Given the description of an element on the screen output the (x, y) to click on. 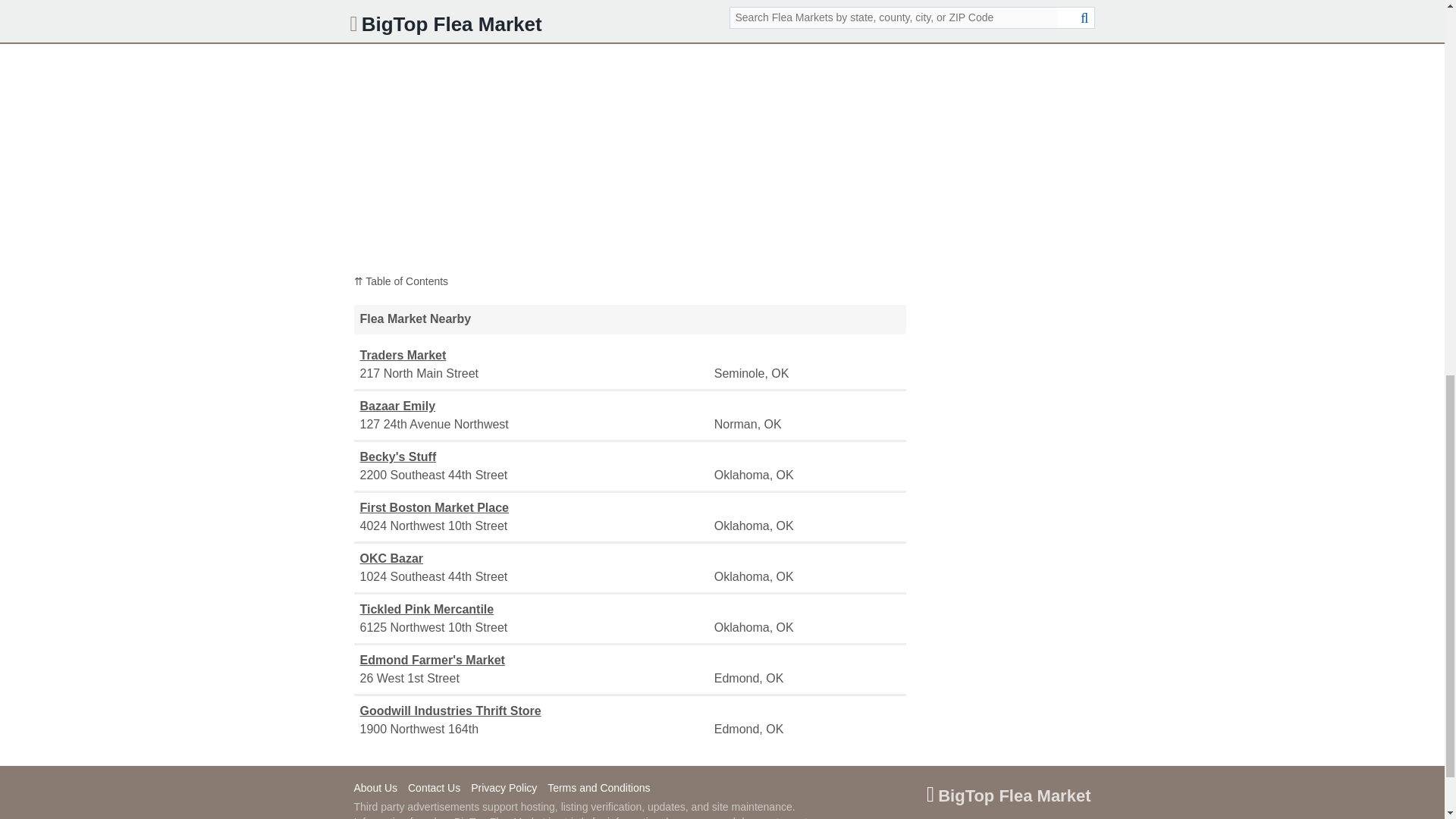
About Us (378, 788)
Becky's Stuff (534, 456)
OKC Bazar in Oklahoma, Oklahoma (534, 558)
get driving directions from your location (689, 26)
Bazaar Emily (534, 406)
Bazaar Emily in Norman, Oklahoma (534, 406)
Becky's Stuff in Oklahoma, Oklahoma (534, 456)
Terms and Conditions (602, 788)
Edmond Farmer's Market in Edmond, Oklahoma (534, 660)
Tickled Pink Mercantile (534, 609)
BigTop Flea Market (1008, 797)
Tickled Pink Mercantile in Oklahoma, Oklahoma (534, 609)
Traders Market (534, 355)
Goodwill Industries Thrift Store (534, 710)
Goodwill Industries Thrift Store in Edmond, Oklahoma (534, 710)
